Given the description of an element on the screen output the (x, y) to click on. 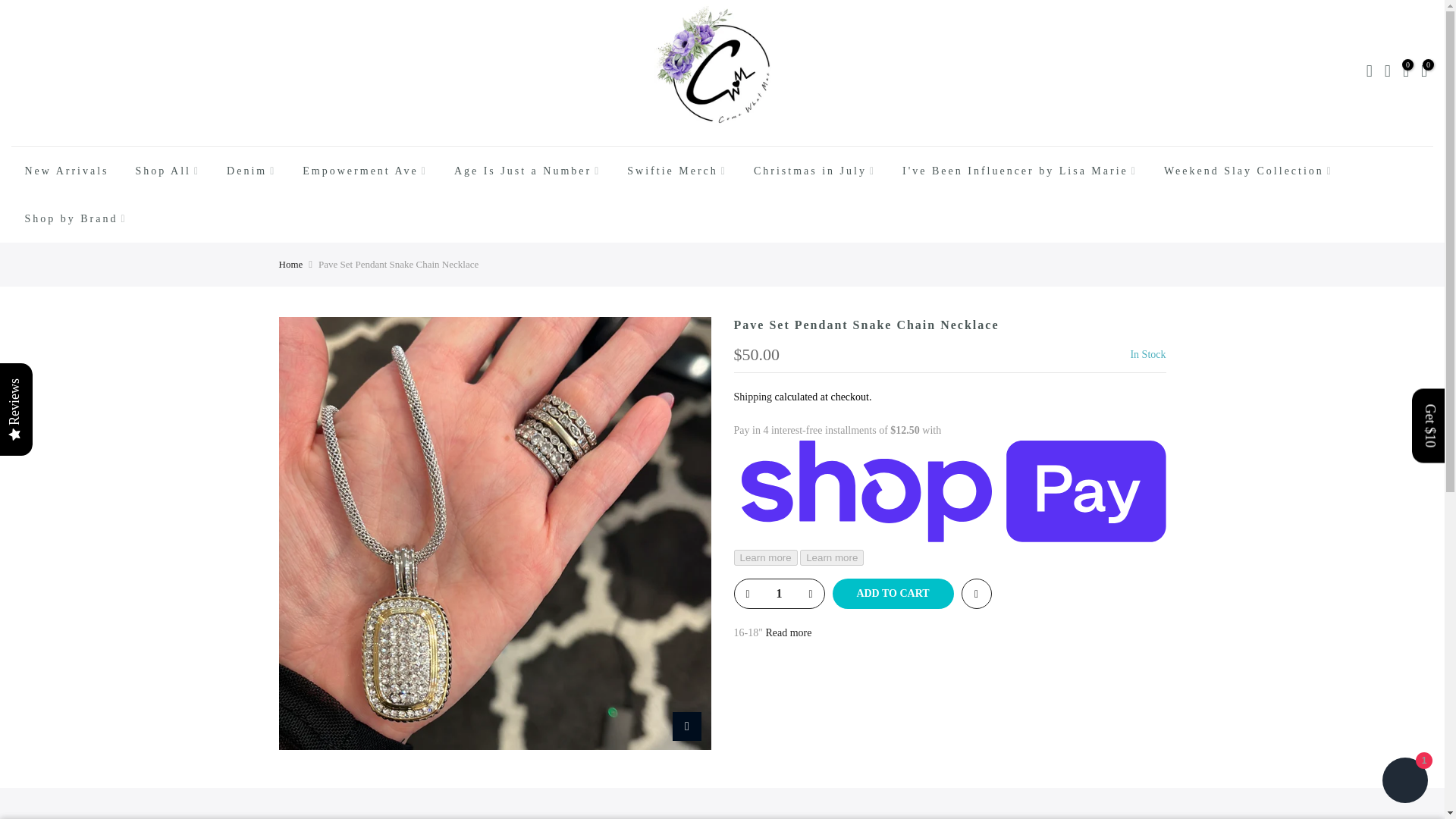
Weekend Slay Collection (1247, 170)
Age Is Just a Number (526, 170)
Denim (251, 170)
New Arrivals (66, 170)
Empowerment Ave (365, 170)
I've Been Influencer by Lisa Marie (1020, 170)
0 (1405, 73)
Christmas in July (813, 170)
Shipping (753, 396)
Shopify online store chat (1404, 781)
Shop by Brand (75, 218)
1 (778, 593)
Shop All (168, 170)
ADD TO CART (892, 593)
Home (290, 264)
